Given the description of an element on the screen output the (x, y) to click on. 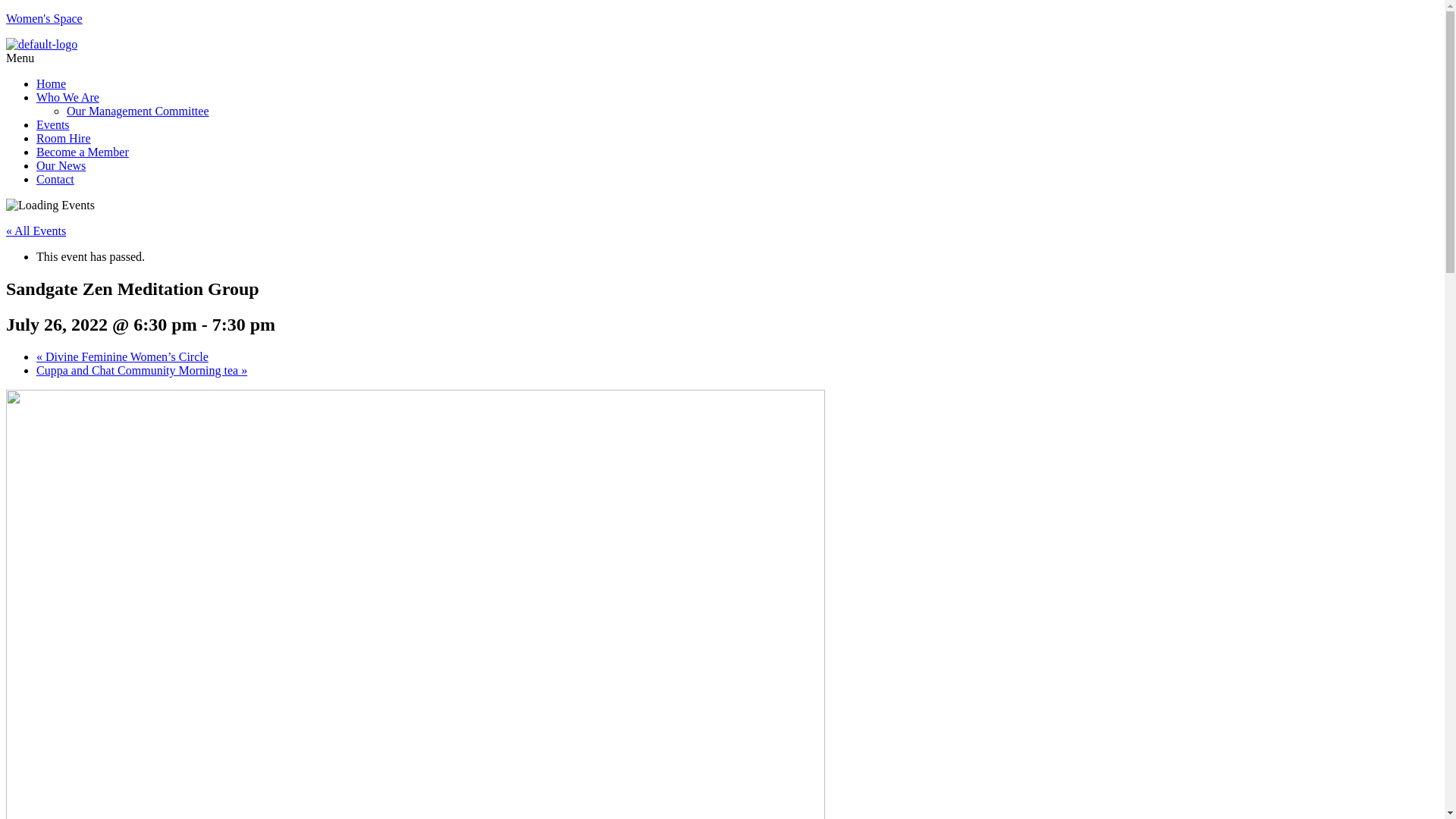
Become a Member Element type: text (82, 151)
Our Management Committee Element type: text (137, 110)
Our News Element type: text (60, 165)
Who We Are Element type: text (67, 97)
Events Element type: text (52, 124)
Contact Element type: text (55, 178)
Women's Space Element type: text (44, 18)
Room Hire Element type: text (63, 137)
Home Element type: text (50, 83)
